Given the description of an element on the screen output the (x, y) to click on. 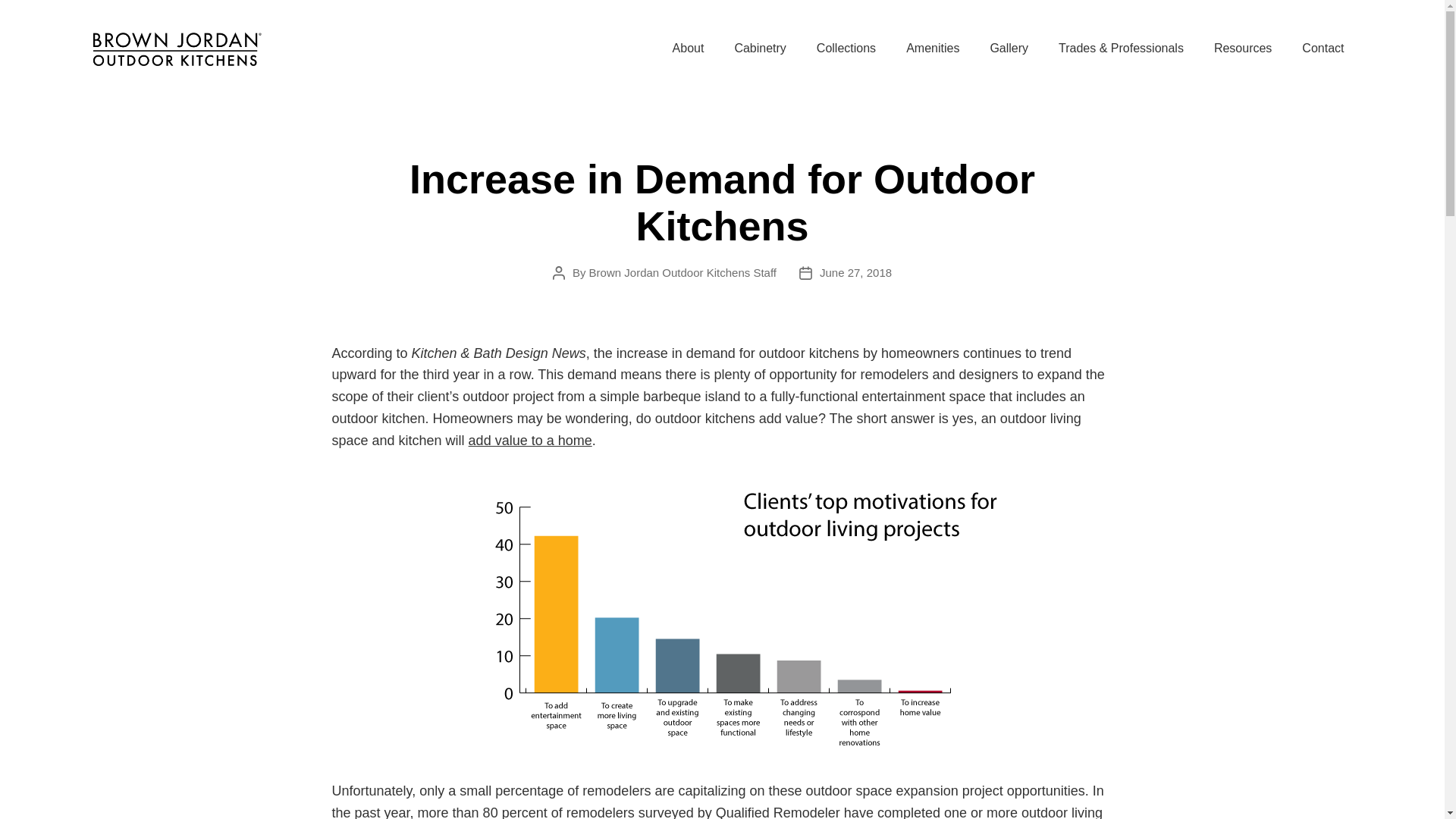
About (688, 48)
Collections (846, 48)
Cabinetry (759, 48)
